Given the description of an element on the screen output the (x, y) to click on. 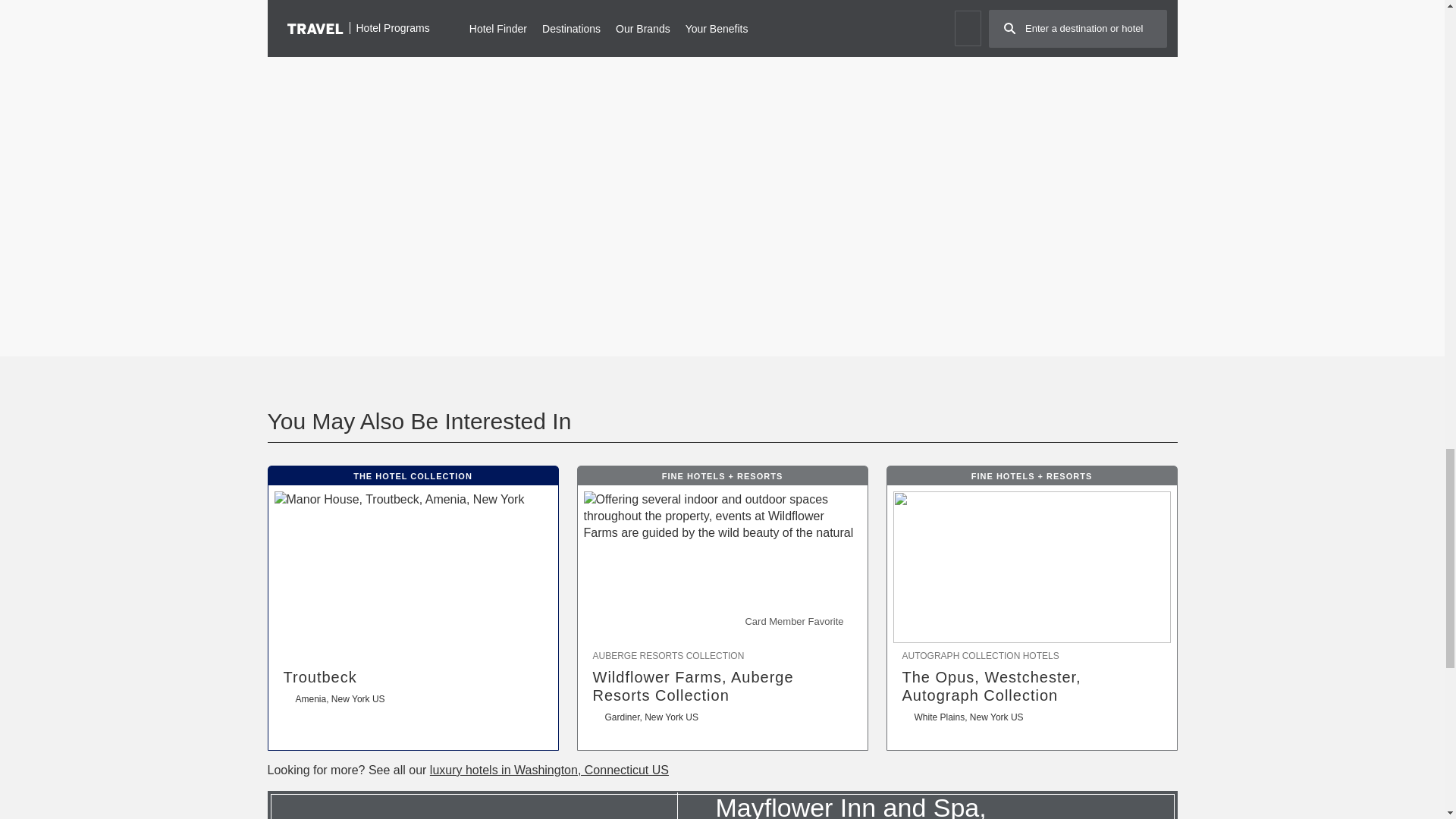
luxury hotels in Washington, Connecticut US (548, 769)
Wildflower Farms, Auberge Resorts Collection (721, 686)
The Opus, Westchester, Autograph Collection (1031, 686)
Troutbeck (413, 677)
